Given the description of an element on the screen output the (x, y) to click on. 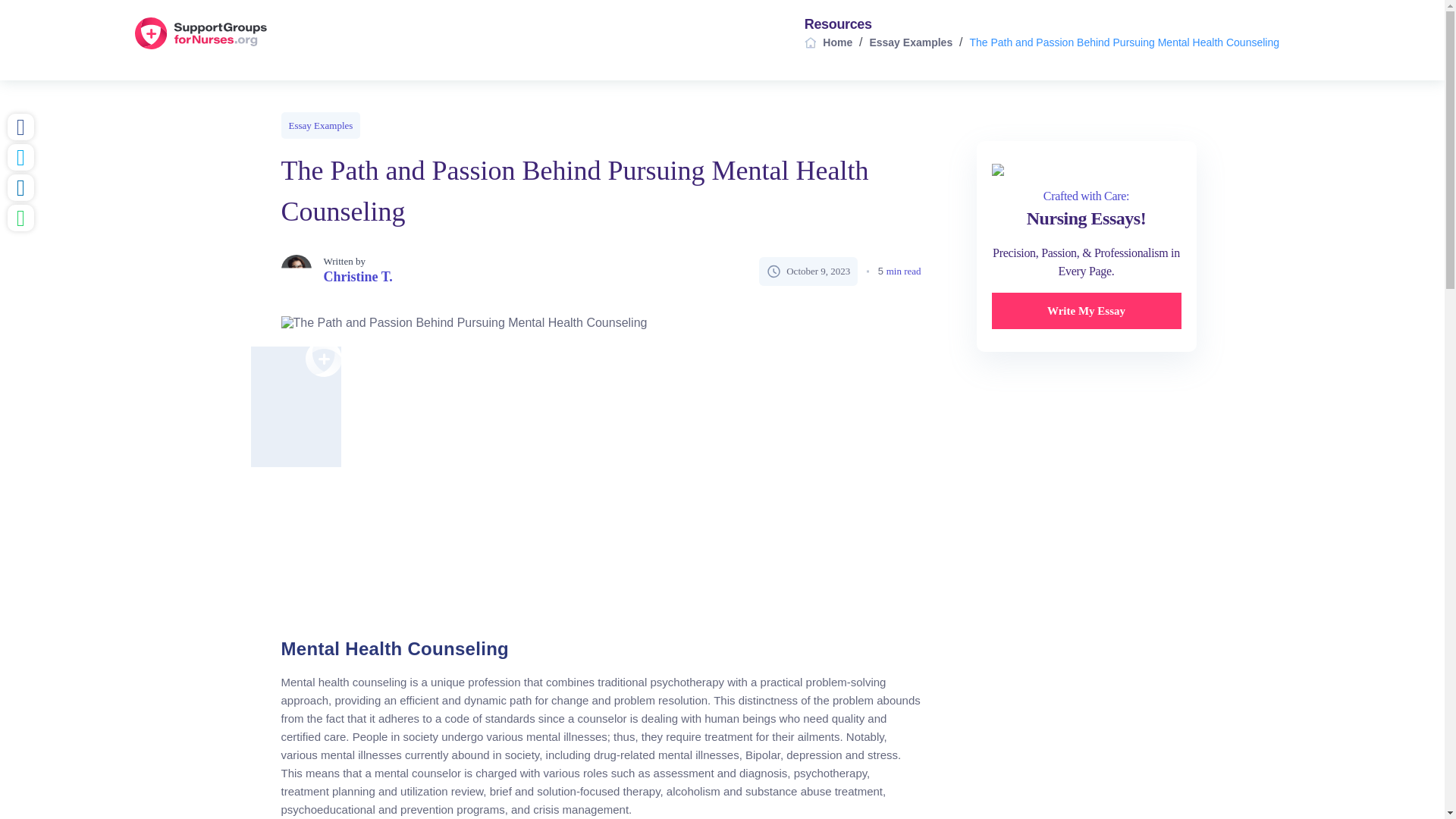
Essay Examples (320, 125)
Go to the Essay Examples Blog Category archives. (910, 42)
Write My Essay (1085, 310)
Christine T. (357, 277)
Essay Examples (910, 42)
Home (836, 42)
